Given the description of an element on the screen output the (x, y) to click on. 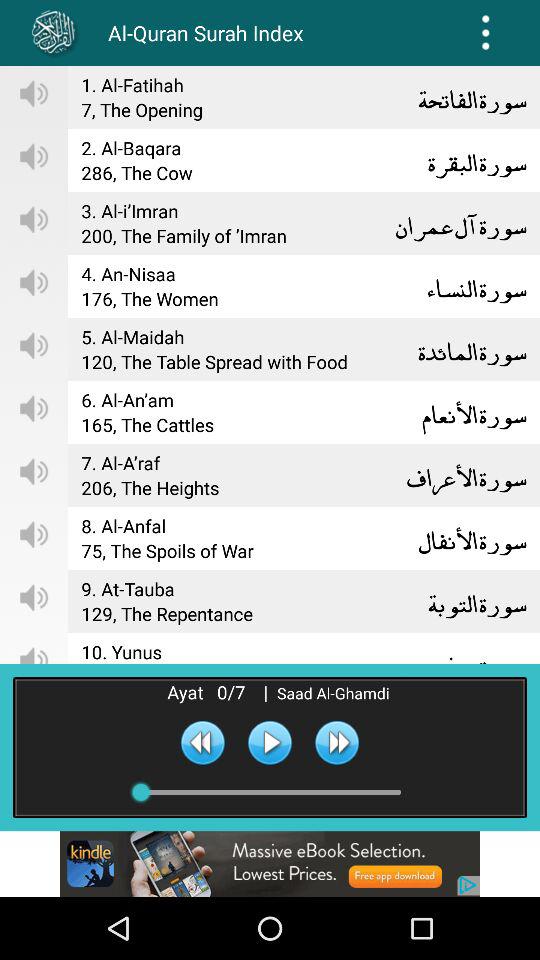
advertisement (270, 864)
